Given the description of an element on the screen output the (x, y) to click on. 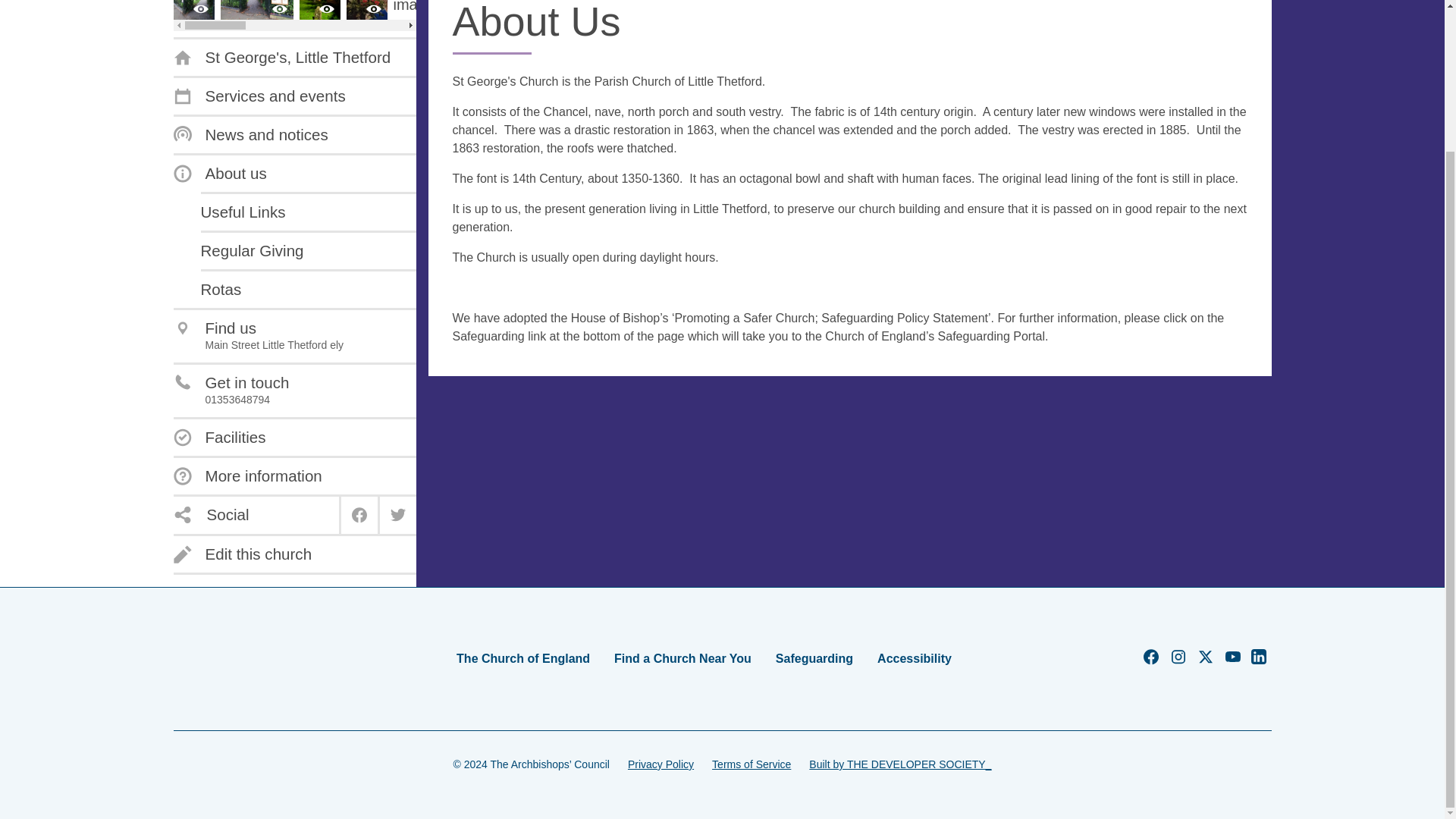
ACNY home (221, 658)
